Given the description of an element on the screen output the (x, y) to click on. 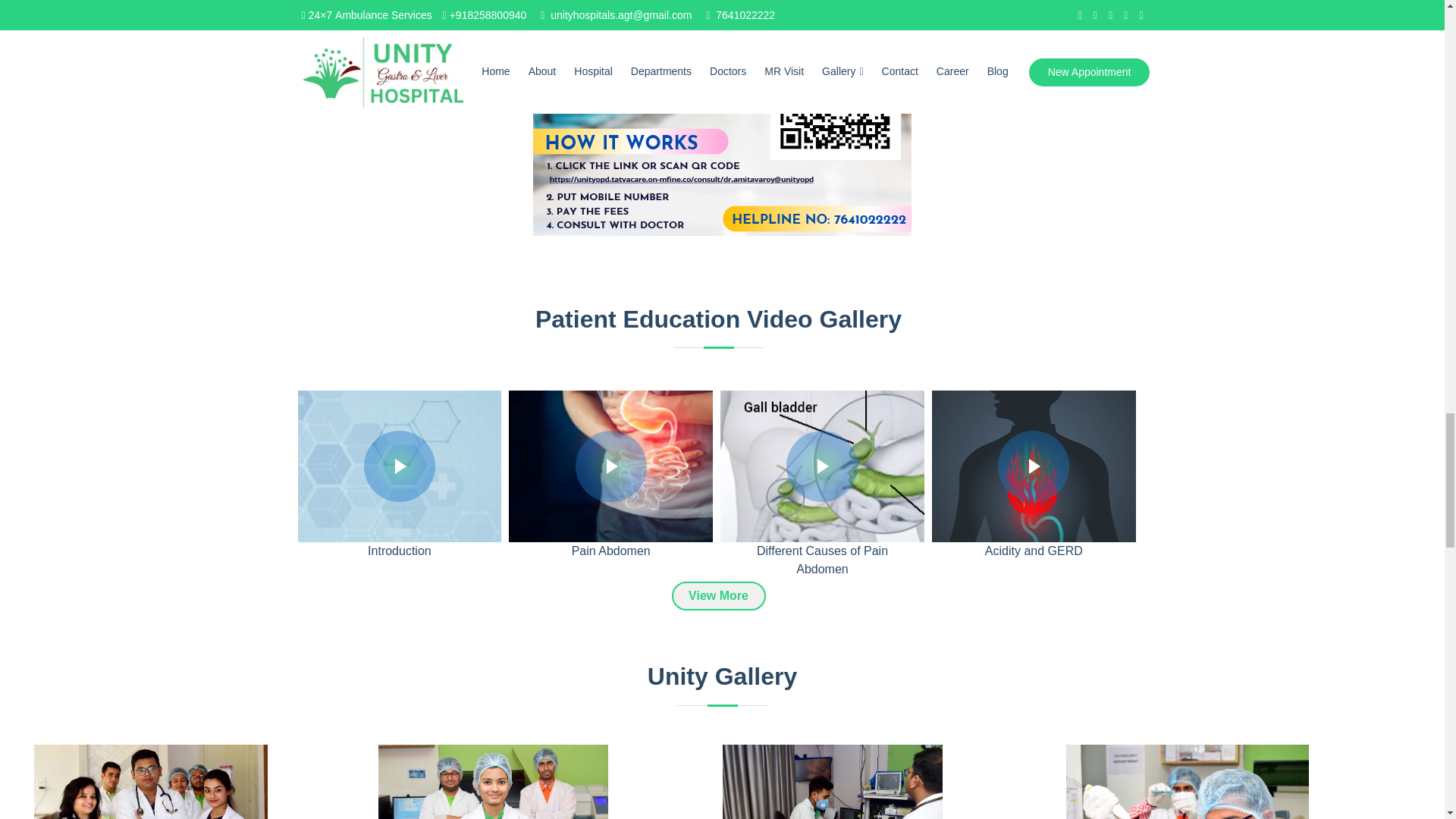
Different Causes of Pain Abdomen (821, 466)
Pain Abdomen (610, 466)
Gallery5 (1186, 816)
Gallery2 (493, 816)
Acidity and GERD (1032, 466)
Gallery1 (150, 816)
Gallery4 (832, 816)
Introduction (399, 466)
